Given the description of an element on the screen output the (x, y) to click on. 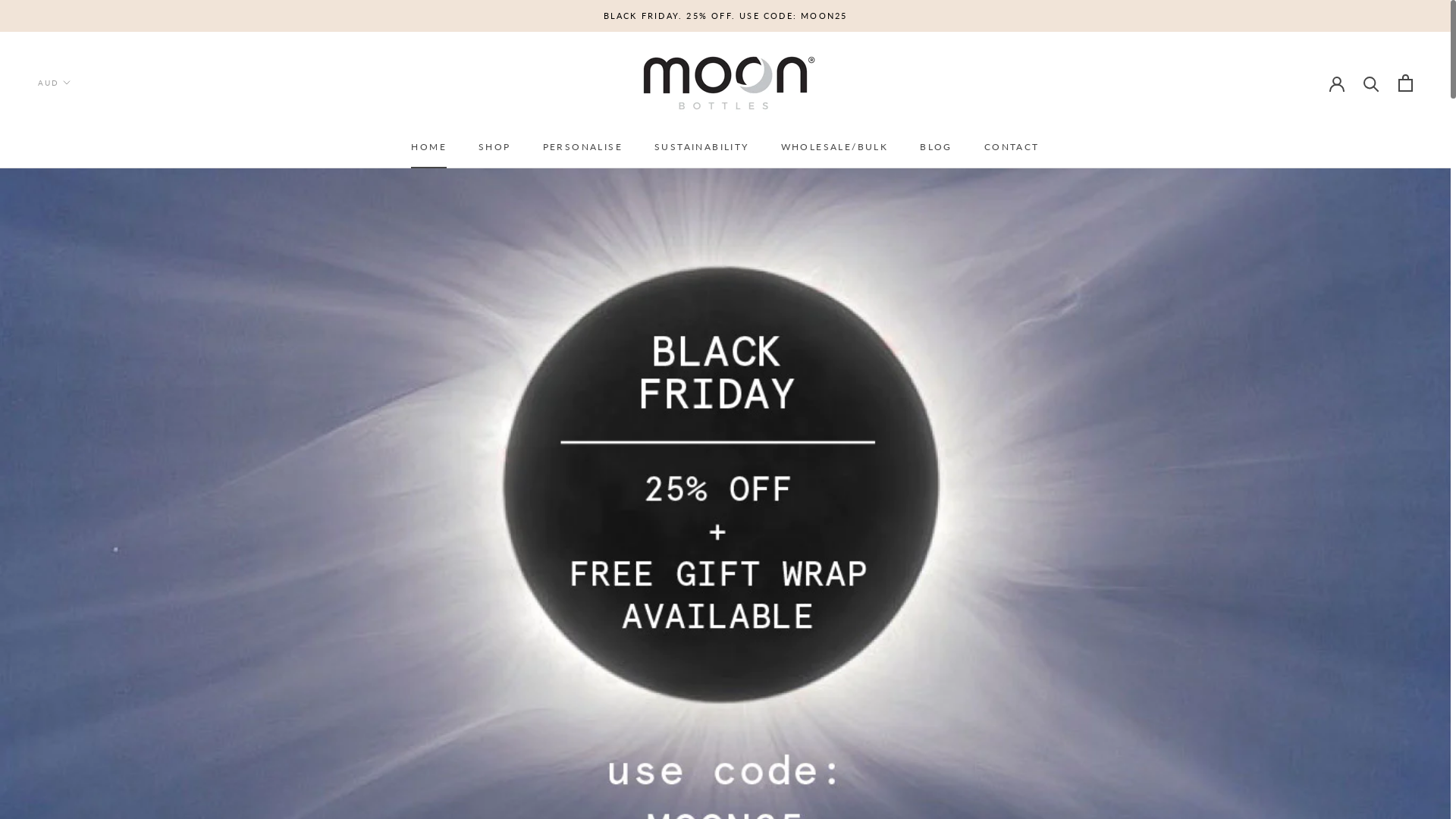
WHOLESALE/BULK Element type: text (834, 146)
SUSTAINABILITY Element type: text (701, 146)
HOME
HOME Element type: text (428, 146)
BLOG
BLOG Element type: text (935, 146)
PERSONALISE
PERSONALISE Element type: text (582, 146)
SHOP
SHOP Element type: text (494, 146)
CONTACT
CONTACT Element type: text (1011, 146)
